Given the description of an element on the screen output the (x, y) to click on. 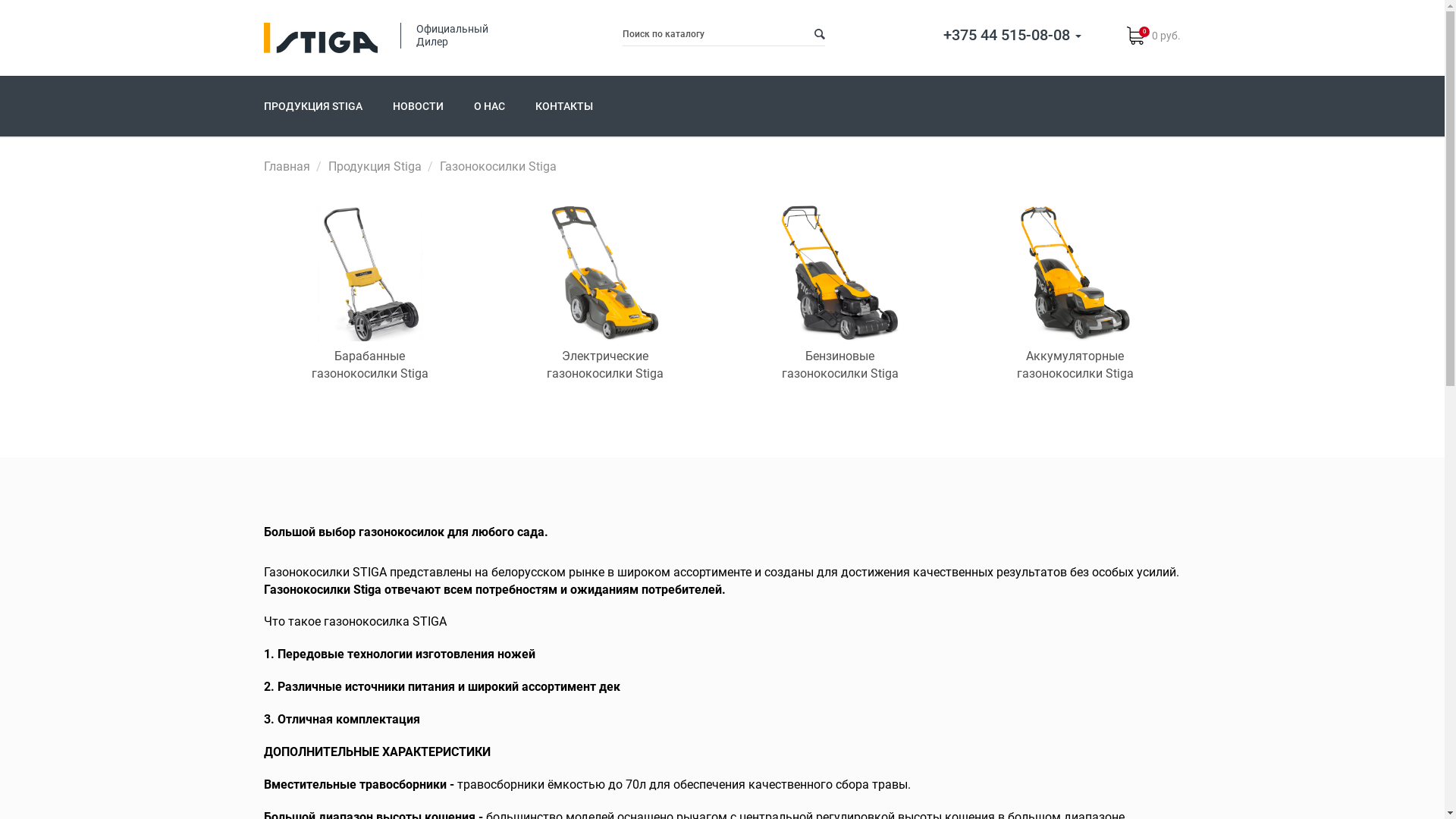
+375 44 515-08-08 Element type: text (1012, 34)
